Given the description of an element on the screen output the (x, y) to click on. 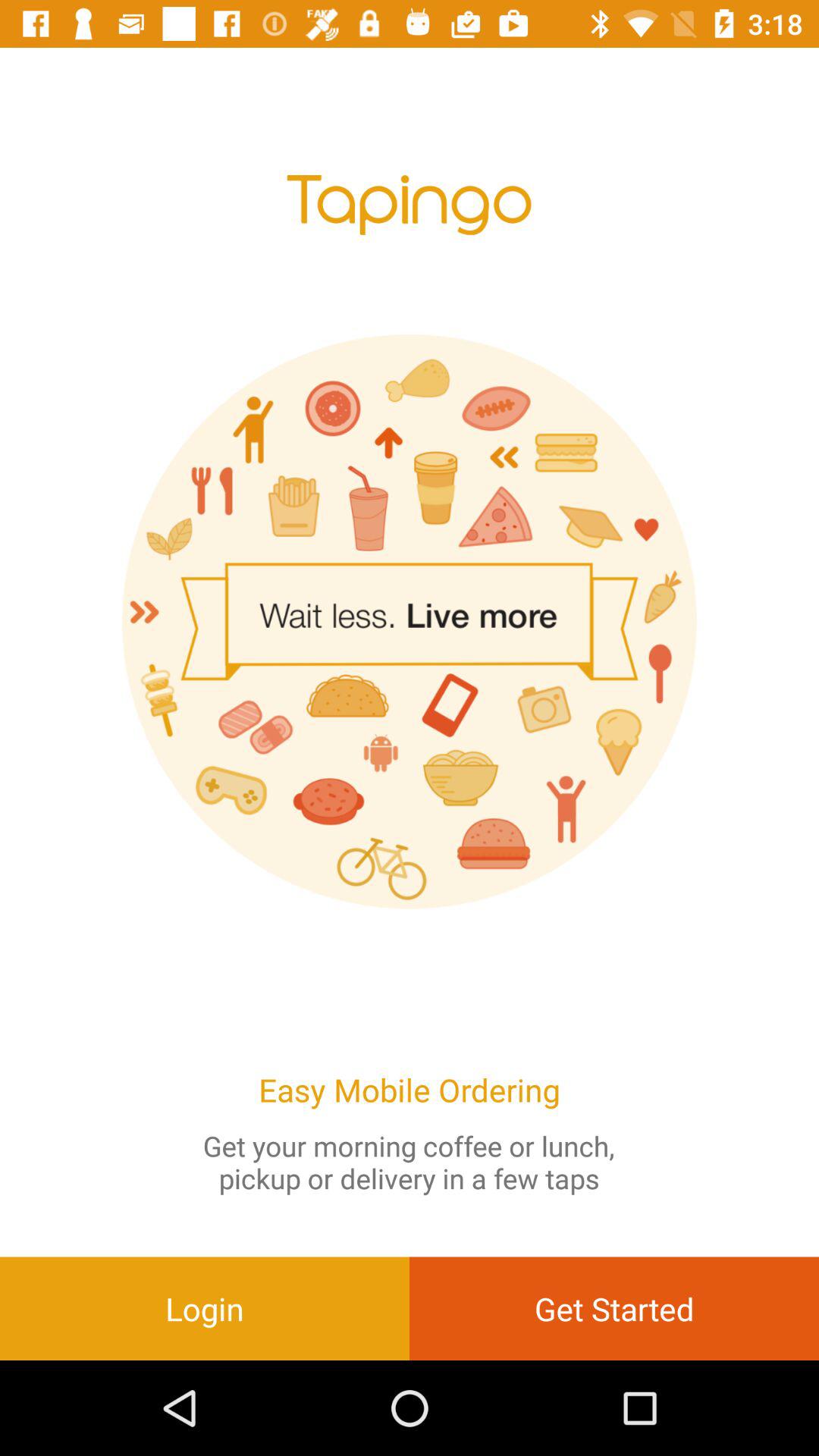
flip until the login icon (204, 1308)
